Given the description of an element on the screen output the (x, y) to click on. 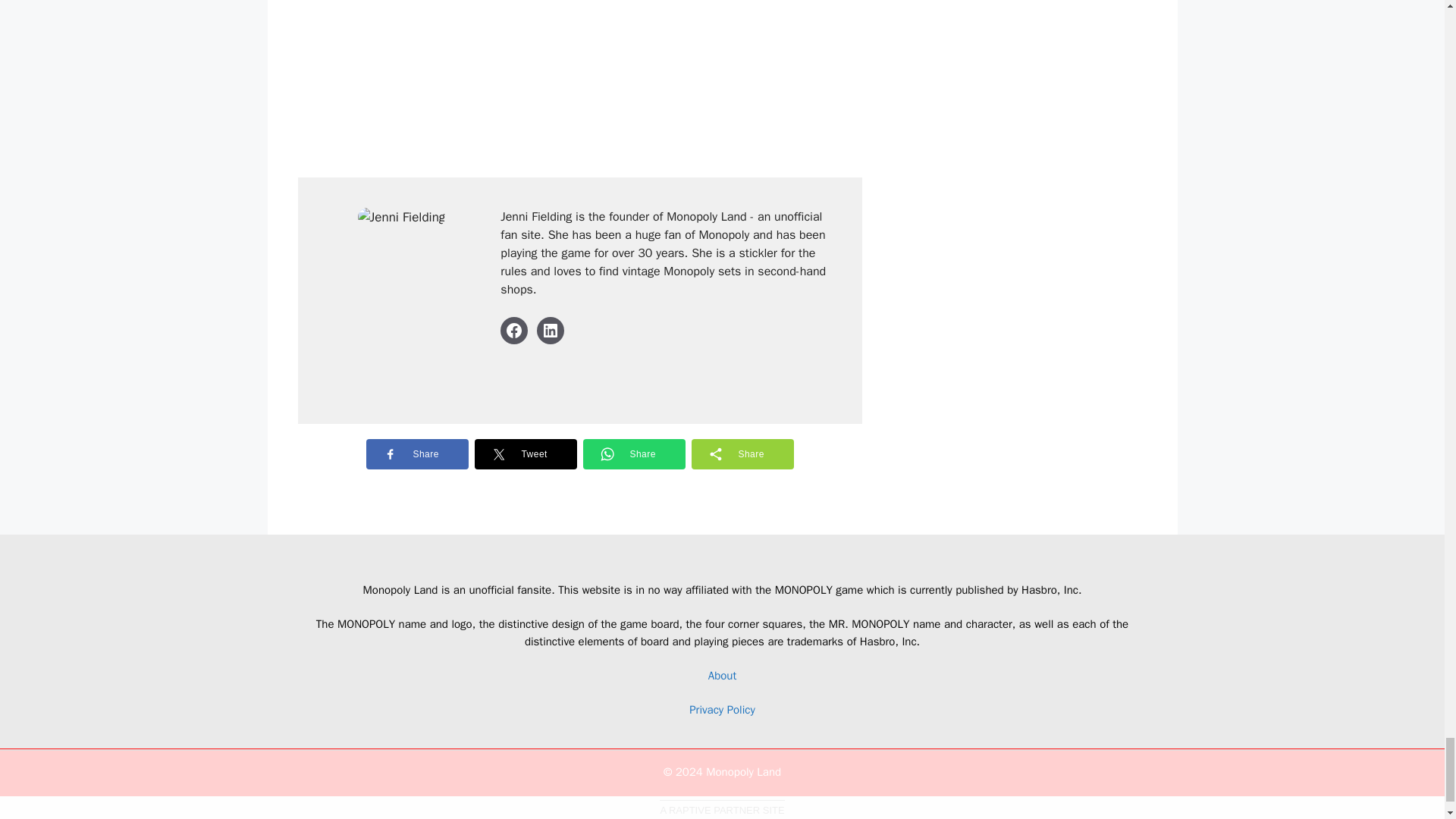
LinkedIn (550, 329)
About (721, 675)
Privacy Policy (721, 709)
Facebook (513, 329)
